Given the description of an element on the screen output the (x, y) to click on. 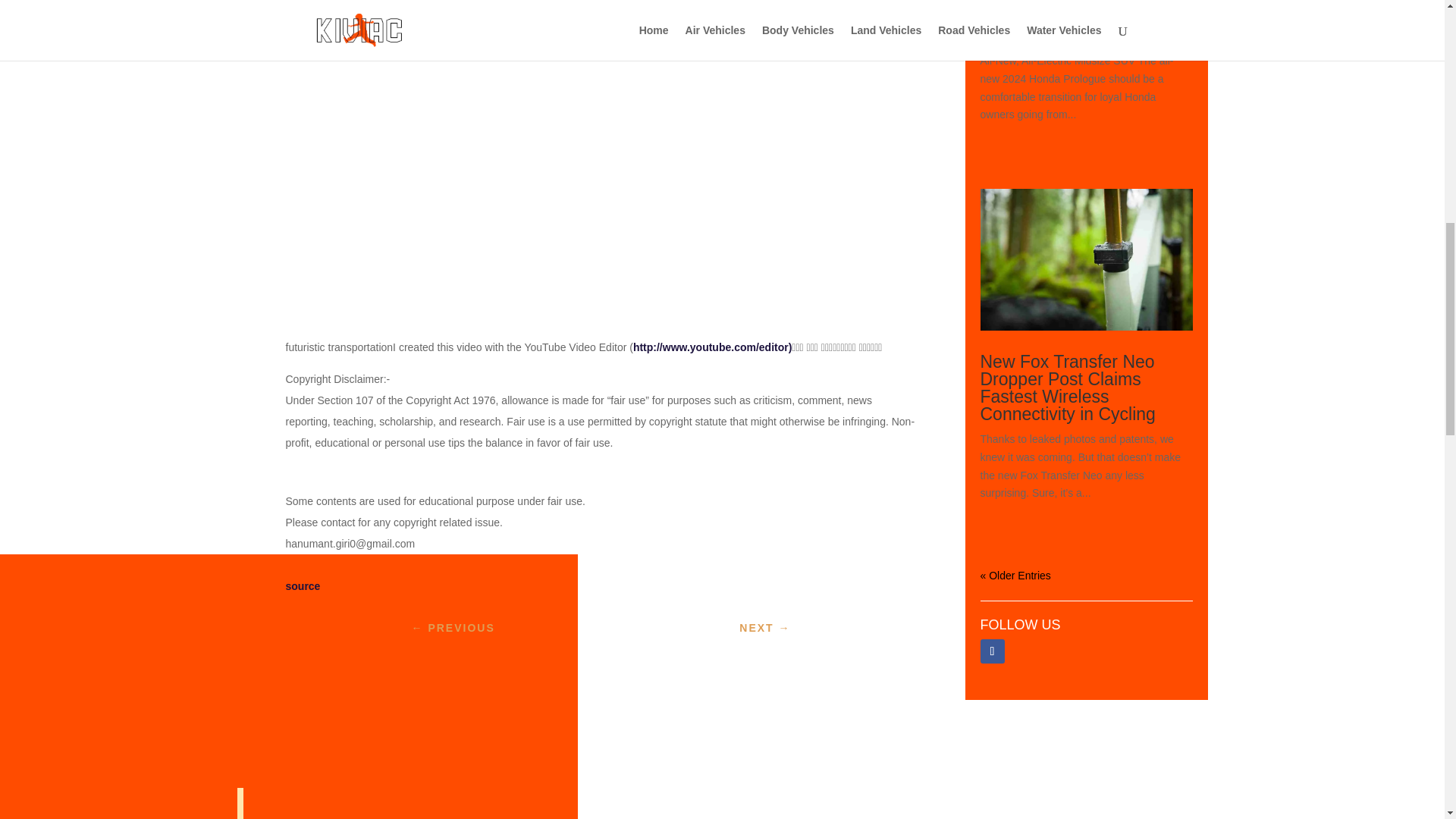
source (302, 585)
Road Test: 2024 Honda Prologue AWD Elite (1070, 26)
Follow on Facebook (991, 651)
